Given the description of an element on the screen output the (x, y) to click on. 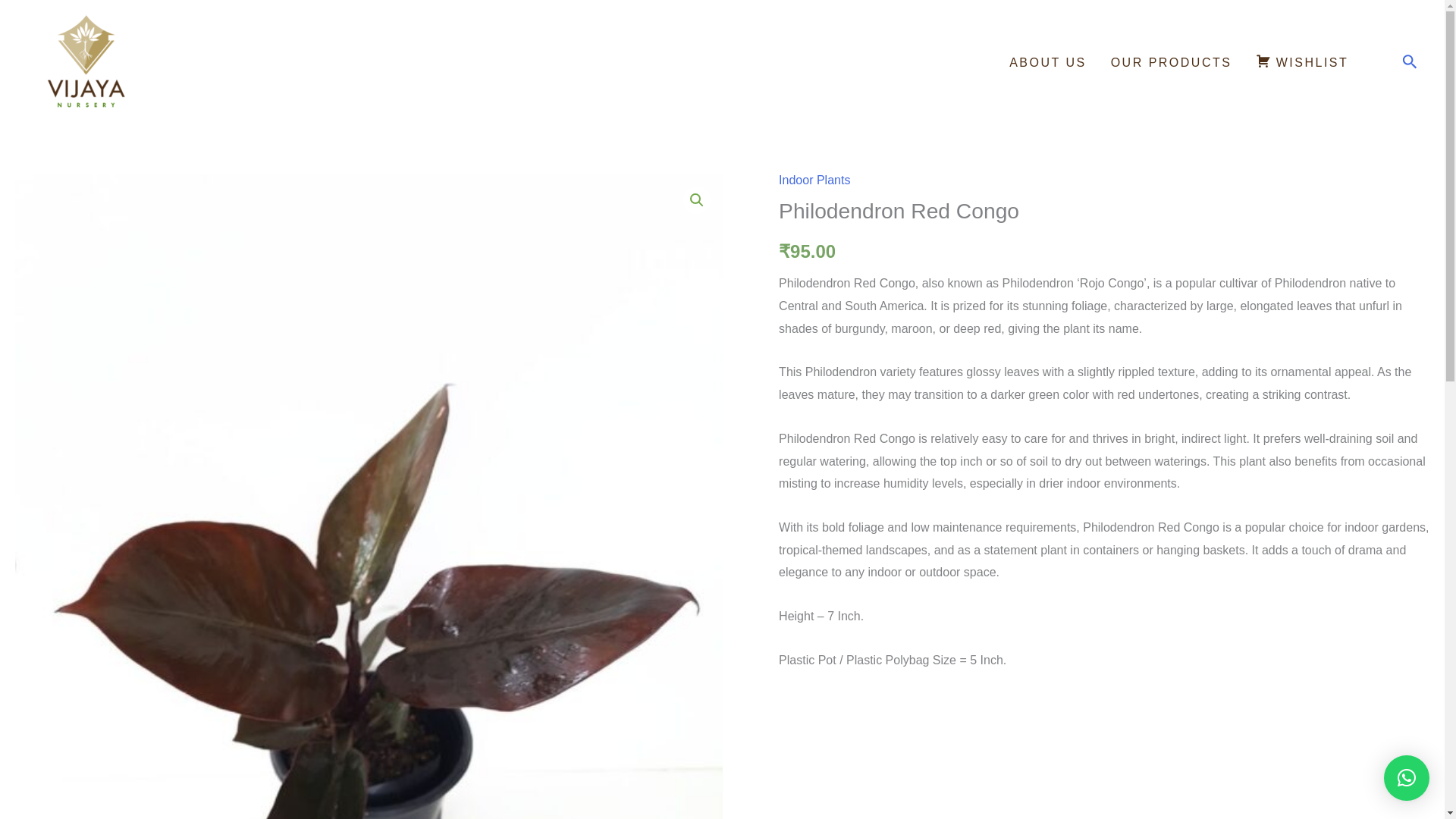
WISHLIST (1301, 62)
Indoor Plants (814, 179)
ABOUT US (1048, 62)
OUR PRODUCTS (1171, 62)
